Given the description of an element on the screen output the (x, y) to click on. 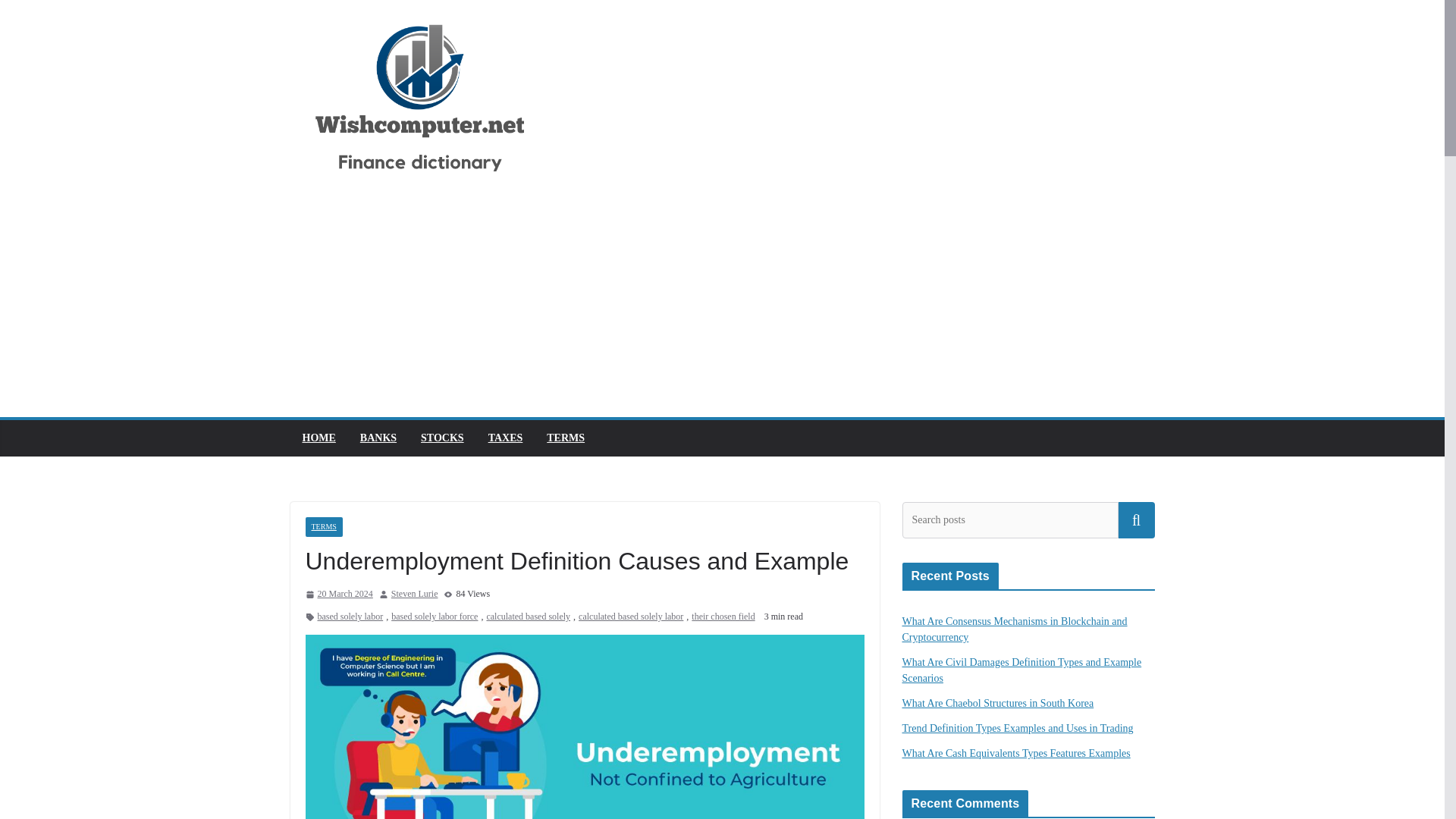
based solely labor (349, 617)
TAXES (504, 437)
12:38 (338, 594)
based solely labor force (434, 617)
their chosen field (722, 617)
calculated based solely labor (630, 617)
20 March 2024 (338, 594)
Steven Lurie (414, 594)
TERMS (323, 526)
calculated based solely (528, 617)
BANKS (377, 437)
Steven Lurie (414, 594)
HOME (317, 437)
STOCKS (442, 437)
